Given the description of an element on the screen output the (x, y) to click on. 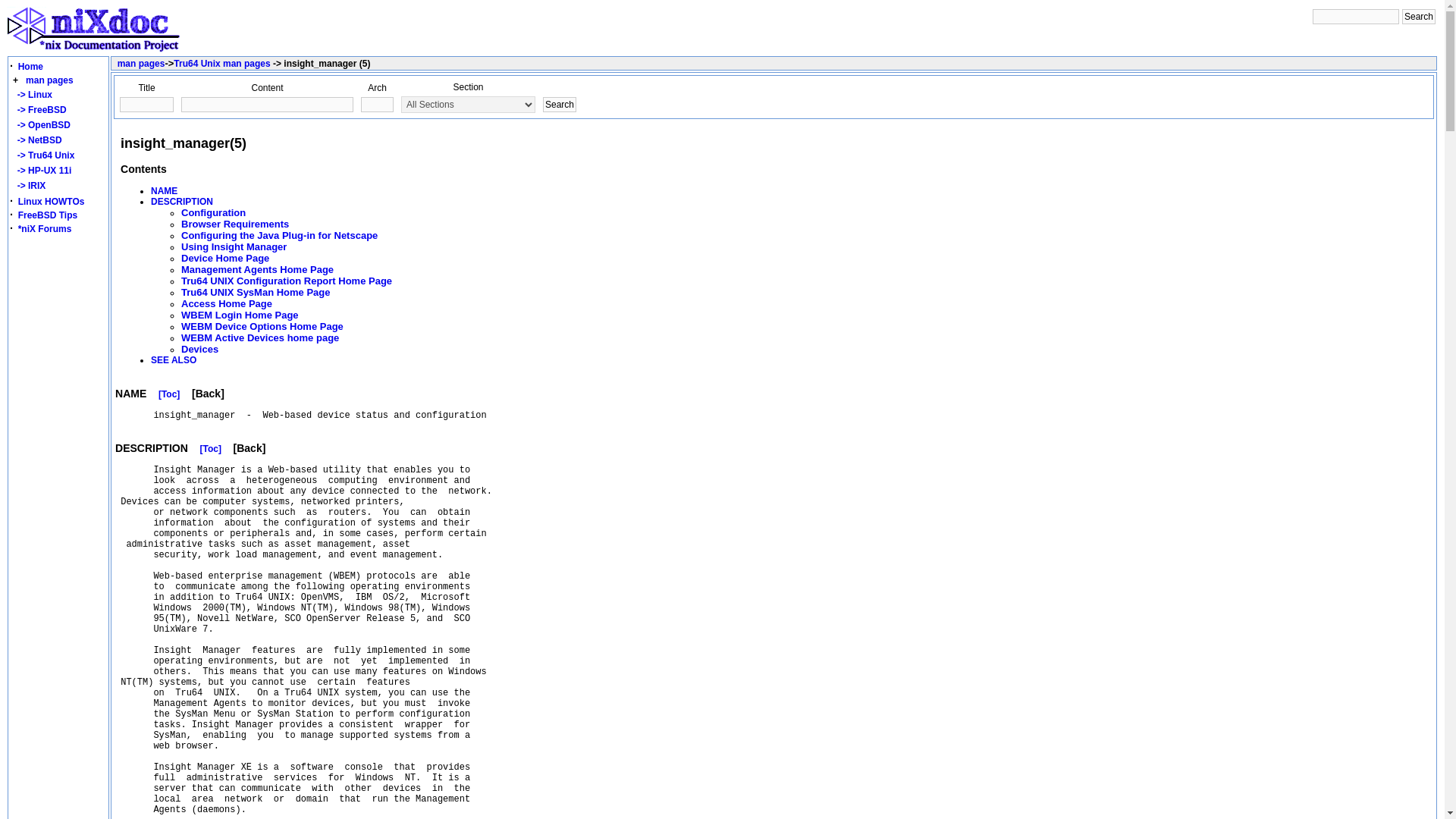
WEBM Active Devices home page (259, 337)
Management Agents Home Page (256, 269)
Browser Requirements (234, 224)
NAME (164, 190)
man pages (50, 80)
Using Insight Manager (233, 246)
Device Home Page (224, 258)
Tru64 Unix man pages (221, 63)
Linux HOWTOs (50, 201)
Devices (199, 348)
